Given the description of an element on the screen output the (x, y) to click on. 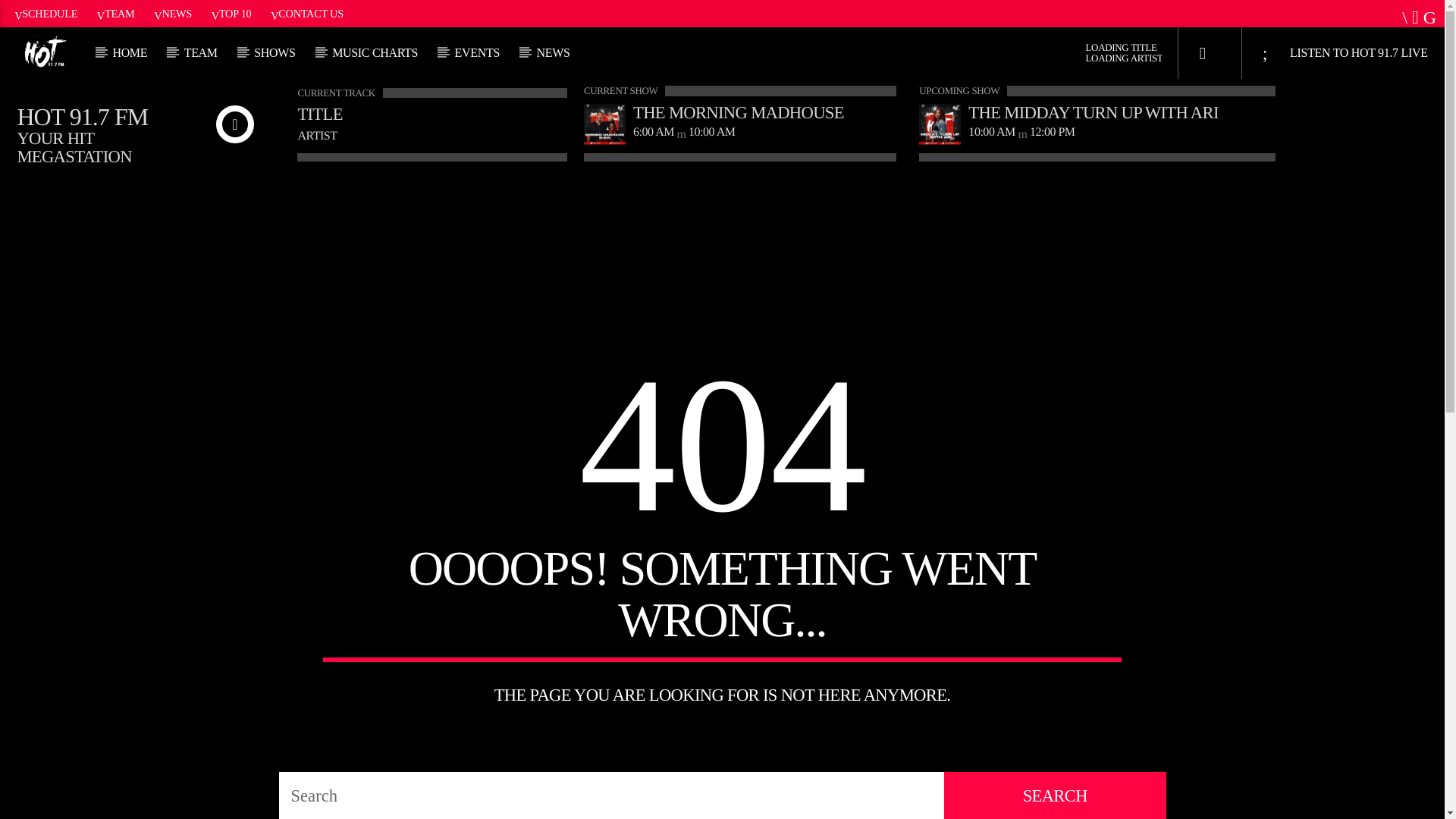
TEAM (115, 13)
TEAM (200, 52)
NEWS (173, 13)
NEWS (552, 52)
Search (1054, 795)
THE MORNING MADHOUSE (738, 113)
TOP 10 (231, 13)
EVENTS (477, 52)
MUSIC CHARTS (375, 52)
SCHEDULE (45, 13)
THE MIDDAY TURN UP WITH ARI (1092, 113)
HOME (130, 52)
CONTACT US (306, 13)
Search (1203, 189)
SHOWS (275, 52)
